Given the description of an element on the screen output the (x, y) to click on. 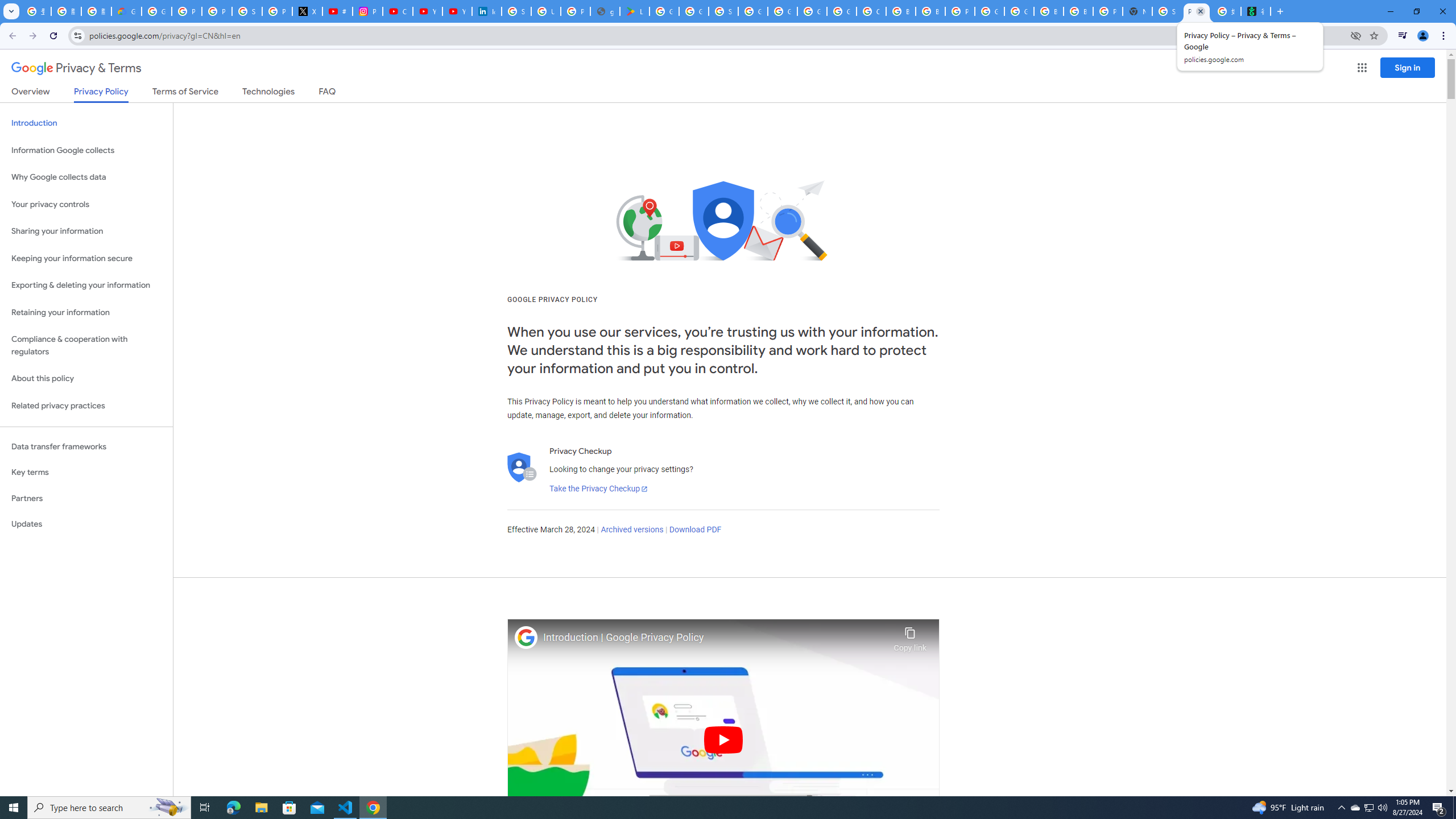
YouTube Culture & Trends - YouTube Top 10, 2021 (456, 11)
#nbabasketballhighlights - YouTube (337, 11)
Take the Privacy Checkup (597, 488)
Sign in - Google Accounts (515, 11)
